Given the description of an element on the screen output the (x, y) to click on. 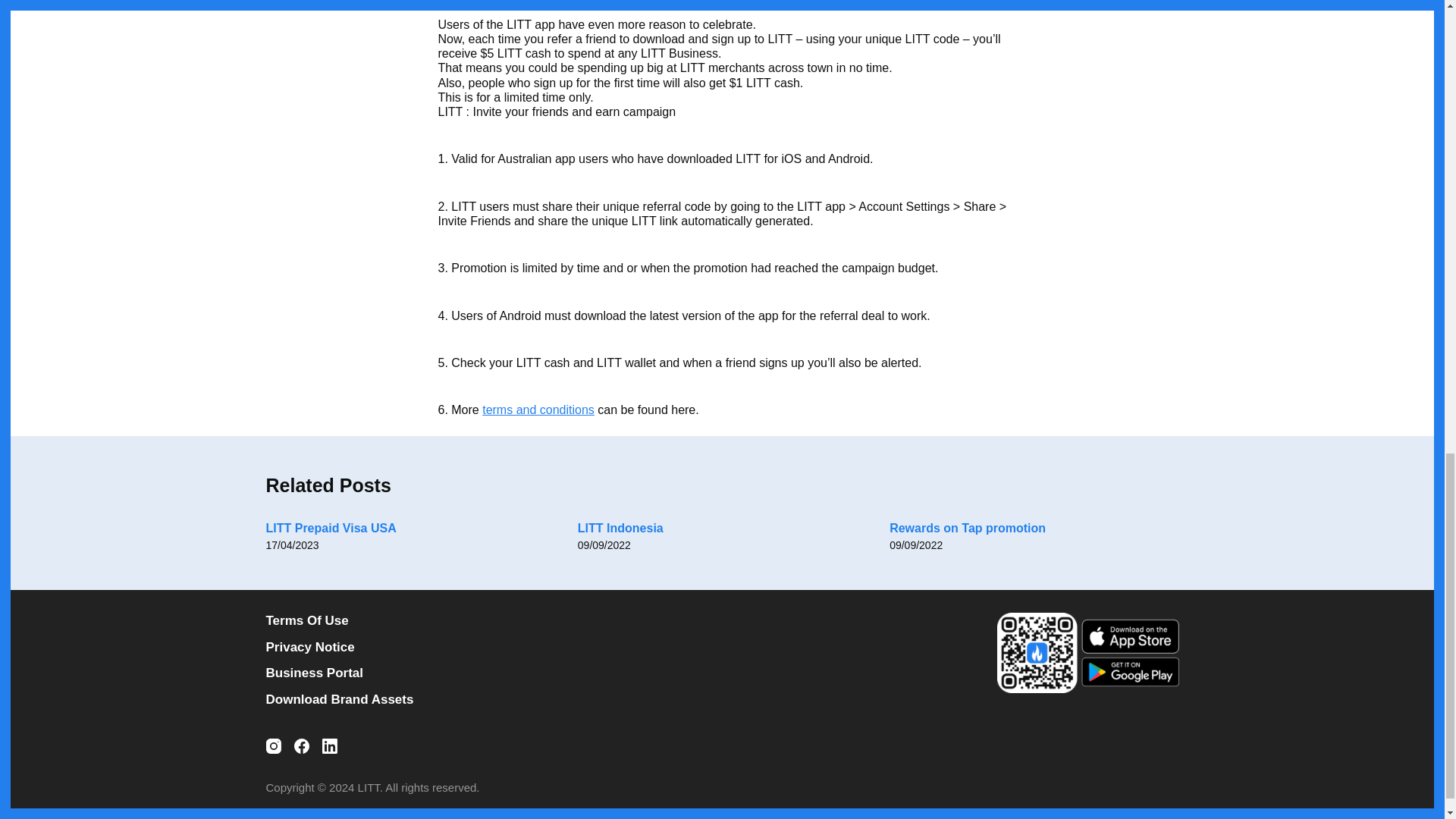
LITT Prepaid Visa USA (330, 527)
Business Portal (484, 673)
LITT Indonesia (620, 527)
terms and conditions (537, 409)
Rewards on Tap promotion (967, 527)
Download Brand Assets (484, 699)
Privacy Notice (484, 647)
Terms Of Use (484, 620)
